Given the description of an element on the screen output the (x, y) to click on. 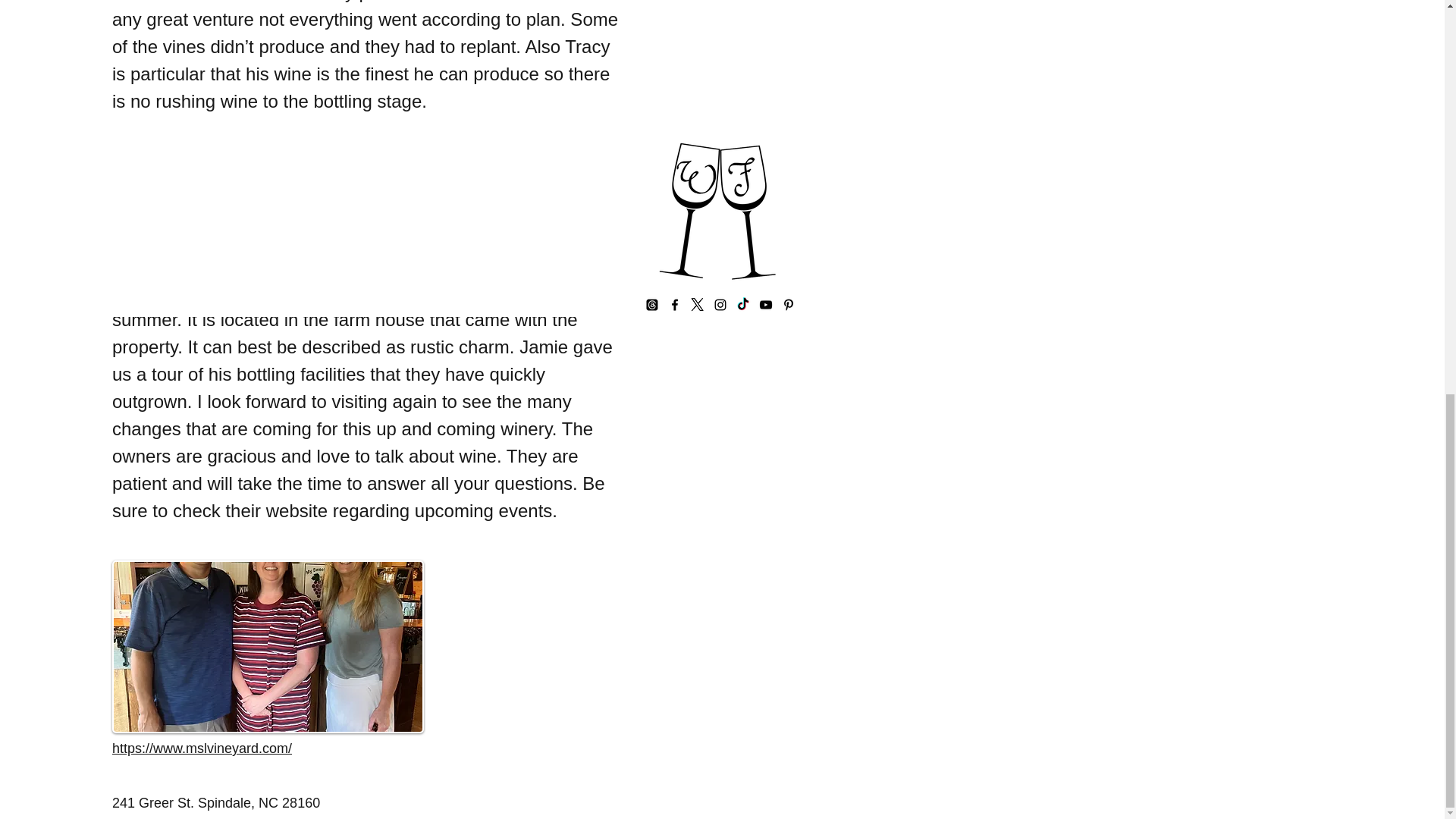
My Sweet Love Winery (267, 646)
